Given the description of an element on the screen output the (x, y) to click on. 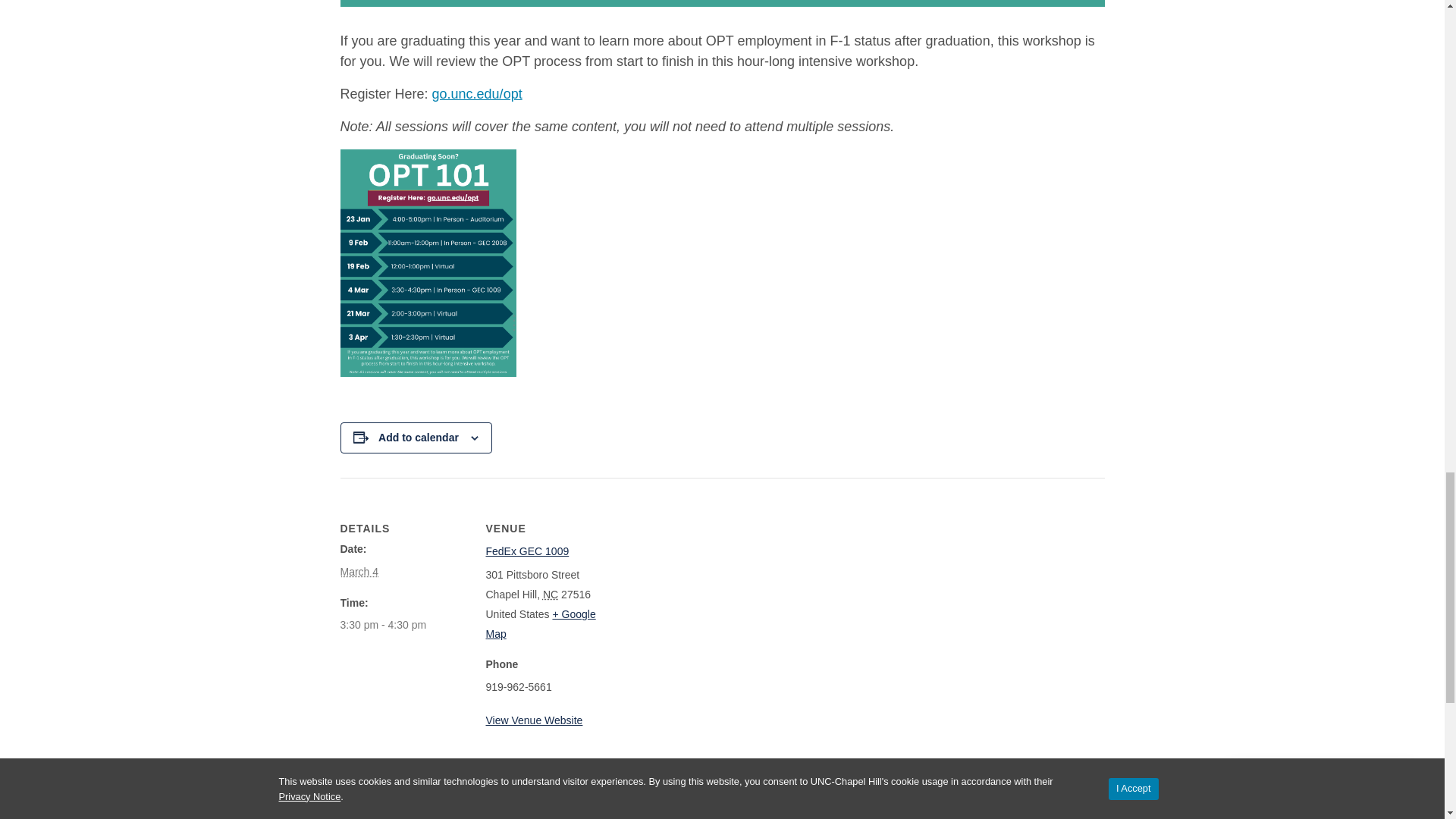
North Carolina (550, 594)
2024-03-04 (358, 571)
Click to view a Google Map (539, 623)
2024-03-04 (382, 624)
Google maps iframe displaying the address to FedEx GEC 1009 (710, 582)
